Given the description of an element on the screen output the (x, y) to click on. 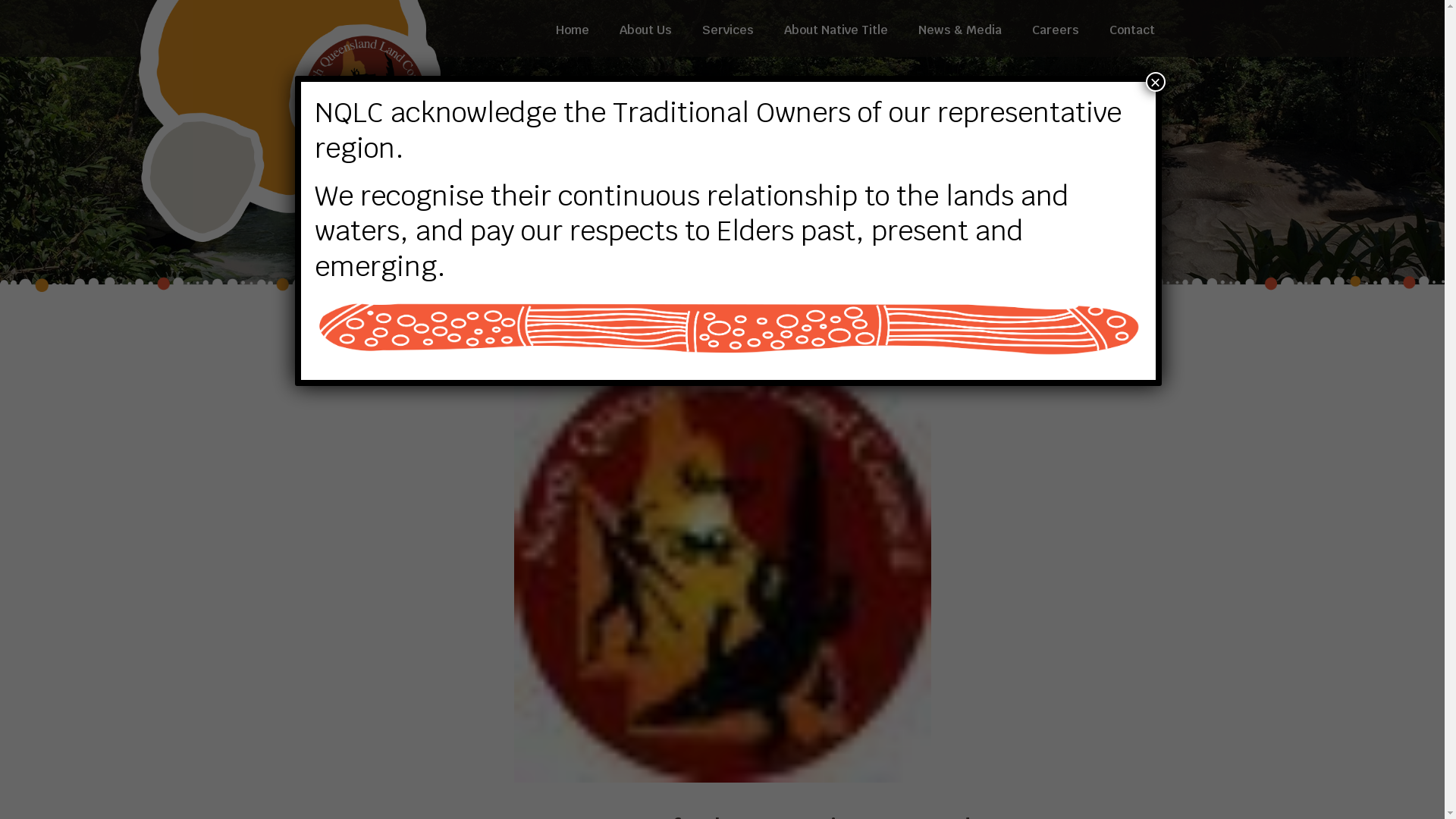
Contact Element type: text (1123, 28)
About Native Title Element type: text (835, 28)
  Element type: text (721, 565)
Careers Element type: text (1054, 28)
News & Media Element type: text (959, 28)
Services Element type: text (727, 28)
About Us Element type: text (644, 28)
Home Element type: text (571, 28)
